Given the description of an element on the screen output the (x, y) to click on. 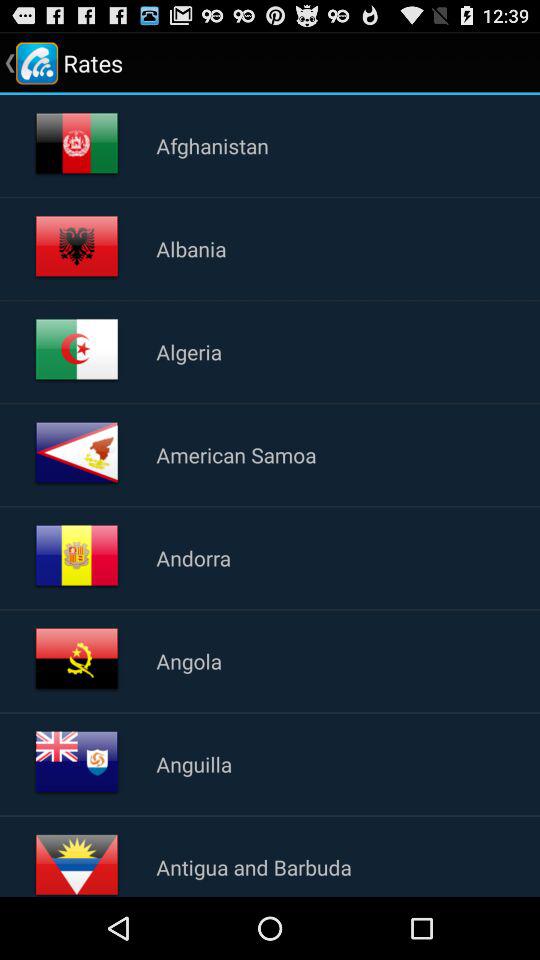
tap app above the american samoa item (189, 351)
